Given the description of an element on the screen output the (x, y) to click on. 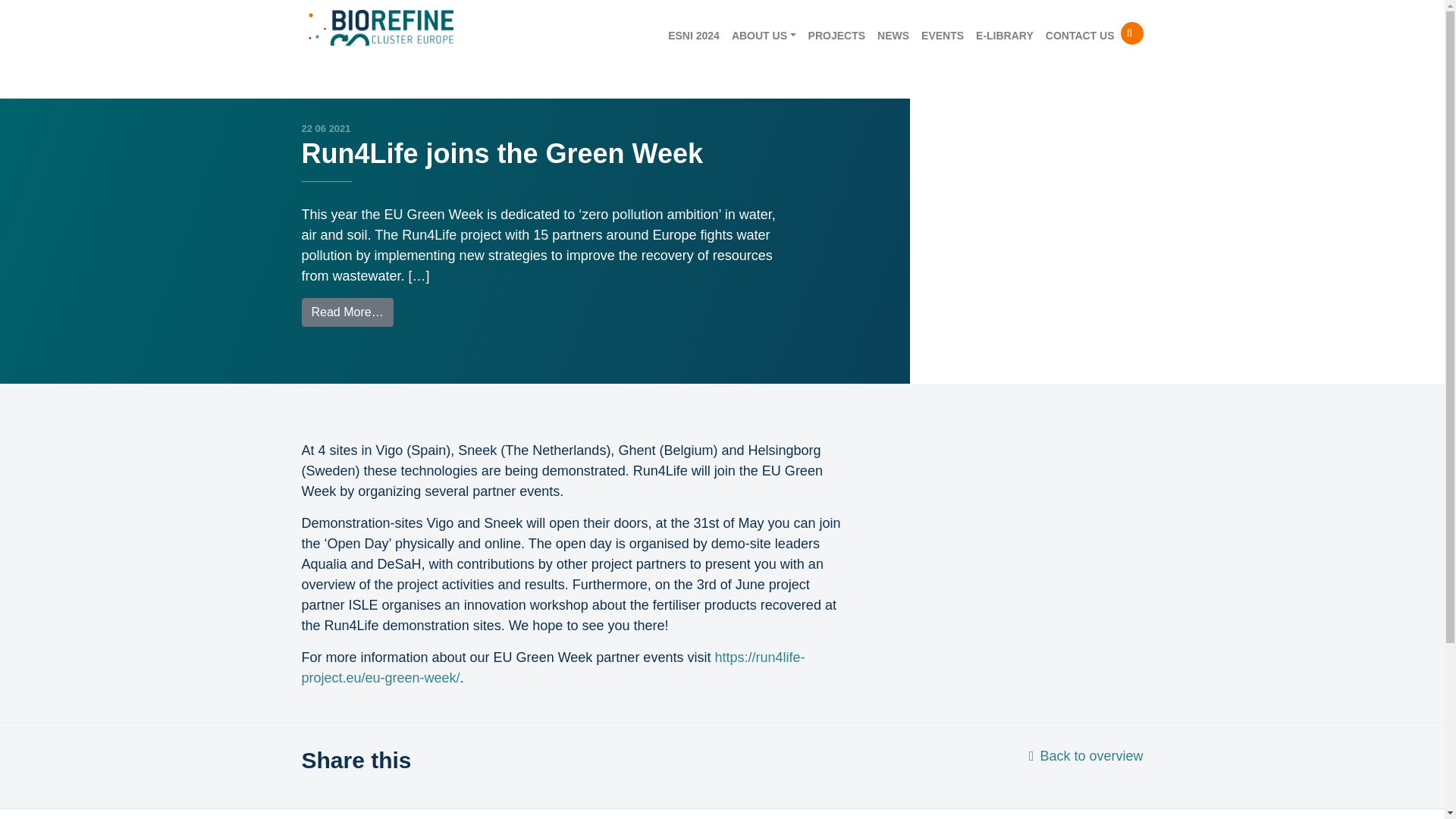
Back to overview (1085, 755)
CONTACT US (1080, 35)
Projects (836, 35)
ABOUT US (763, 35)
ESNI 2024 (693, 35)
News (892, 35)
E-LIBRARY (1004, 35)
PROJECTS (836, 35)
About us (763, 35)
ESNI 2024 (693, 35)
